Given the description of an element on the screen output the (x, y) to click on. 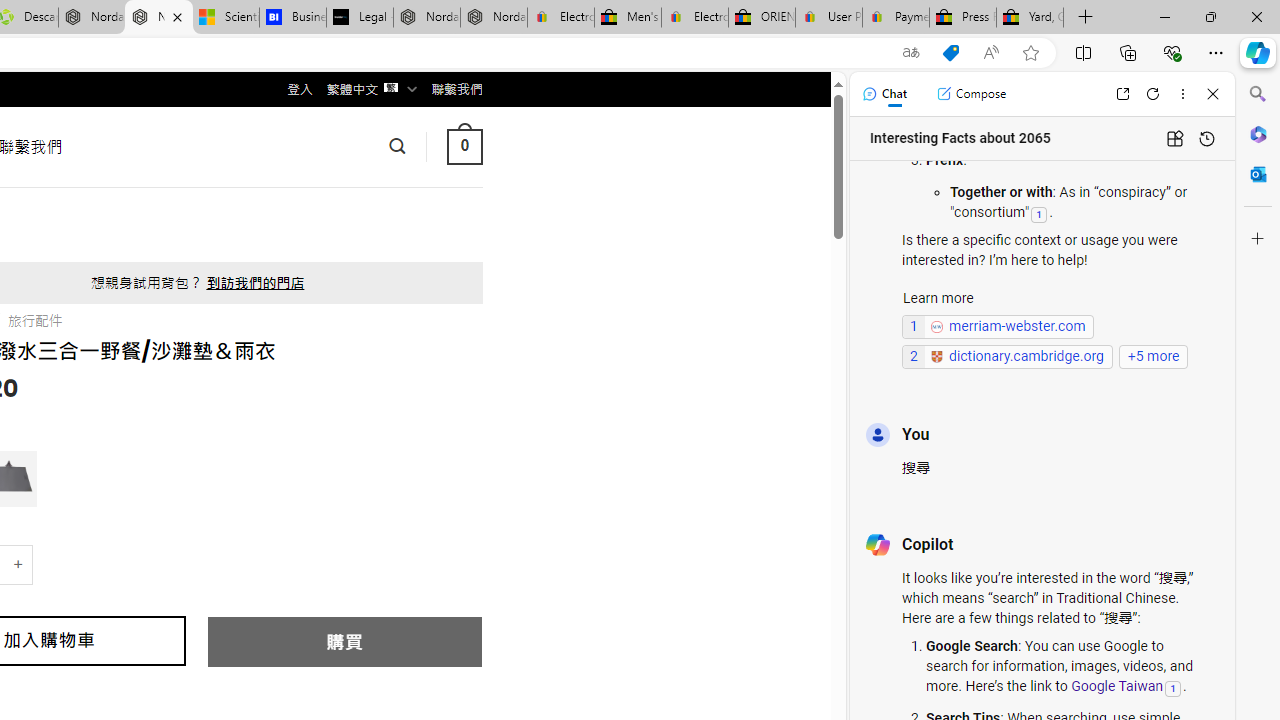
Minimize Search pane (1258, 94)
+ (19, 564)
